Given the description of an element on the screen output the (x, y) to click on. 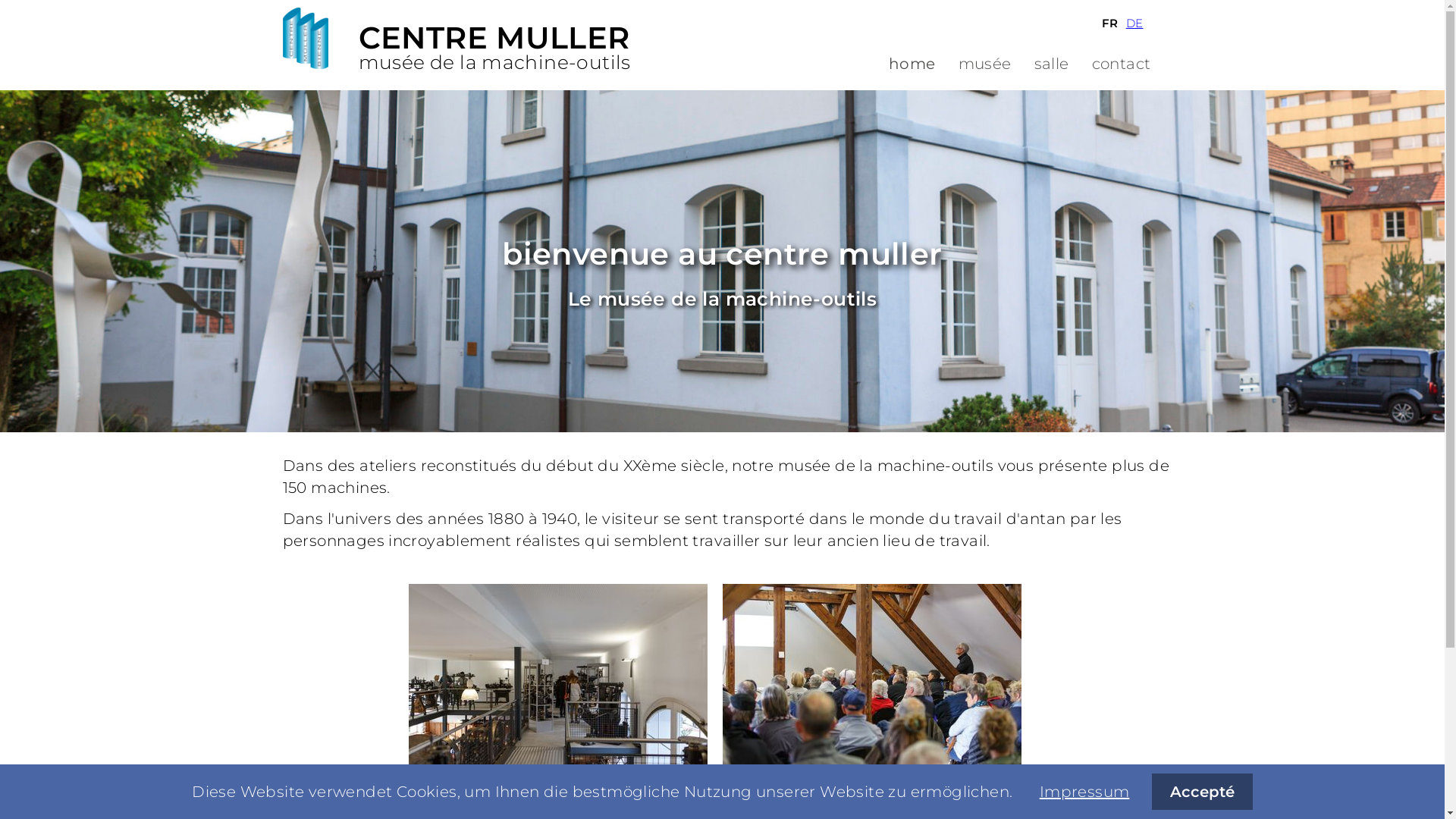
contact Element type: text (1121, 64)
impressum Element type: text (1073, 800)
DE Element type: text (1134, 22)
Aller au contenu Element type: text (282, 89)
home Element type: text (911, 64)
muller group sa Element type: text (983, 800)
Impressum Element type: text (1084, 791)
contact Element type: text (1139, 800)
salle Element type: text (1051, 64)
